Given the description of an element on the screen output the (x, y) to click on. 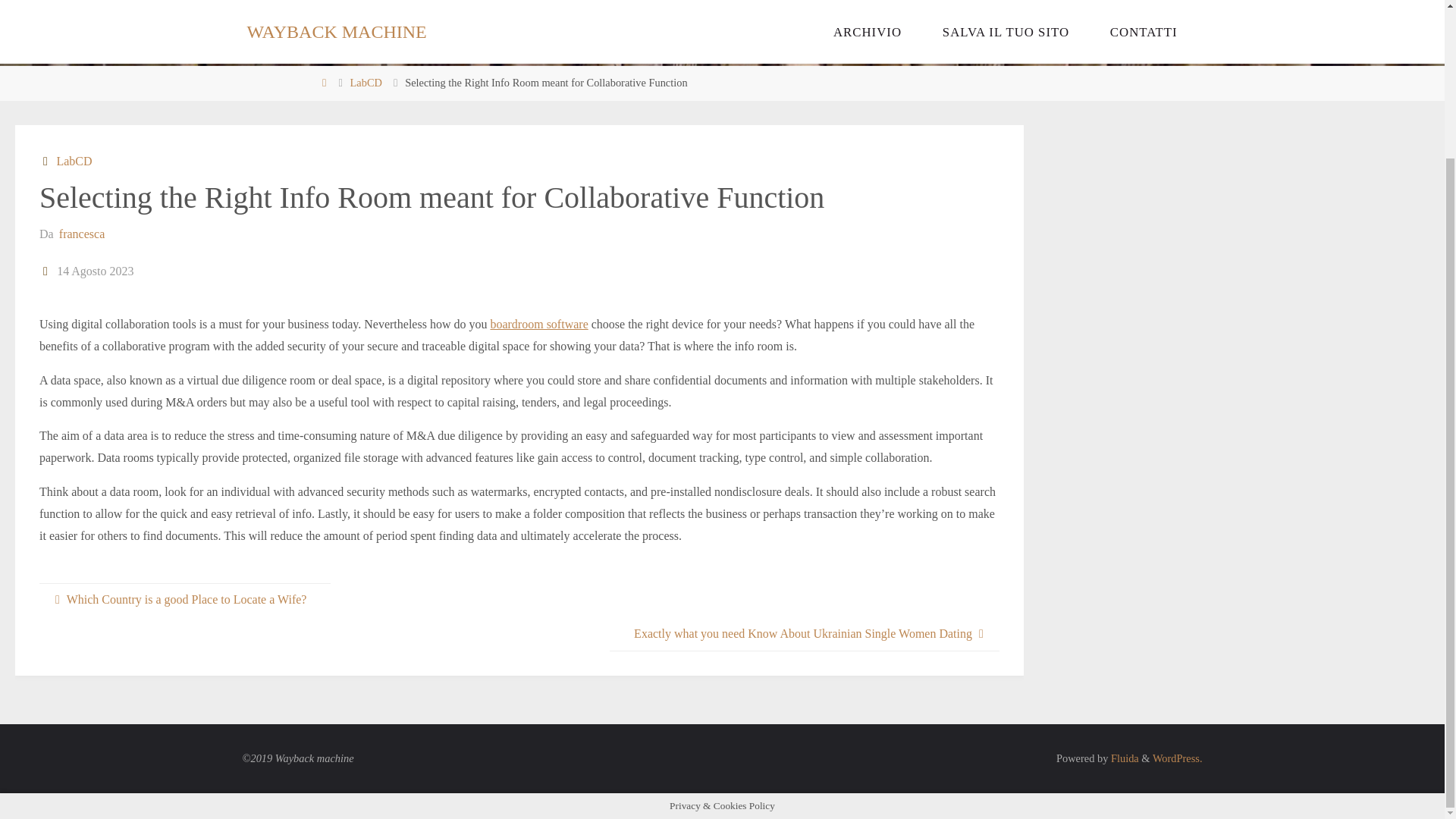
francesca (80, 233)
Which Country is a good Place to Locate a Wife? (184, 600)
Piattaforma personale di pubblicazione semantica (1177, 758)
boardroom software (538, 323)
LabCD (72, 160)
Data (46, 270)
Fluida (1123, 758)
Vedi tutti gli articoli di francesca (80, 233)
LabCD (365, 82)
WordPress. (1177, 758)
